Given the description of an element on the screen output the (x, y) to click on. 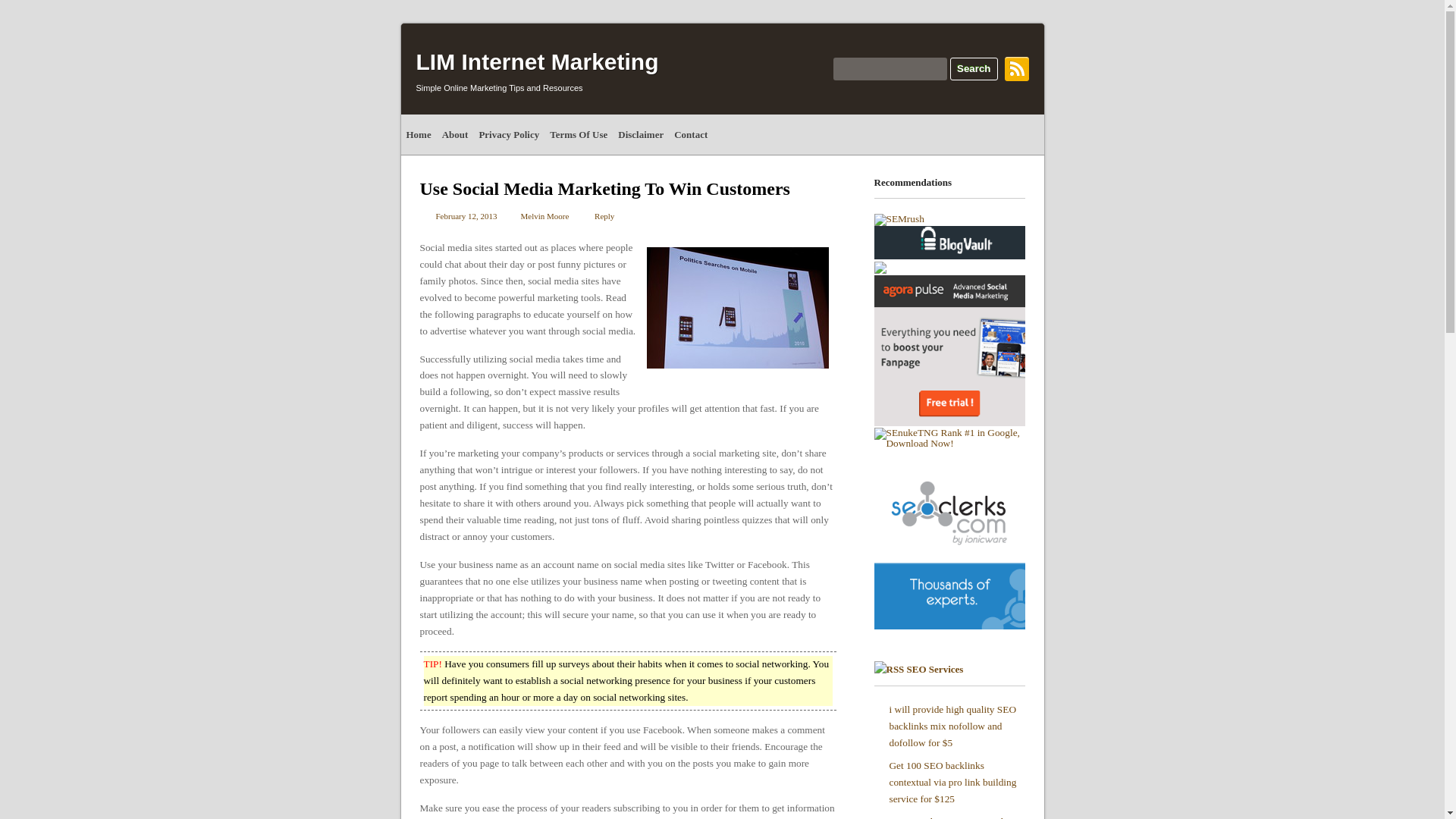
Terms Of Use (578, 134)
9:29 pm (465, 215)
View all posts by Melvin Moore (544, 215)
Contact (690, 134)
LIM Internet Marketing (536, 61)
February 12, 2013 (465, 215)
SEMrush (898, 218)
Search (973, 68)
Privacy Policy (508, 134)
Reply (596, 215)
